Given the description of an element on the screen output the (x, y) to click on. 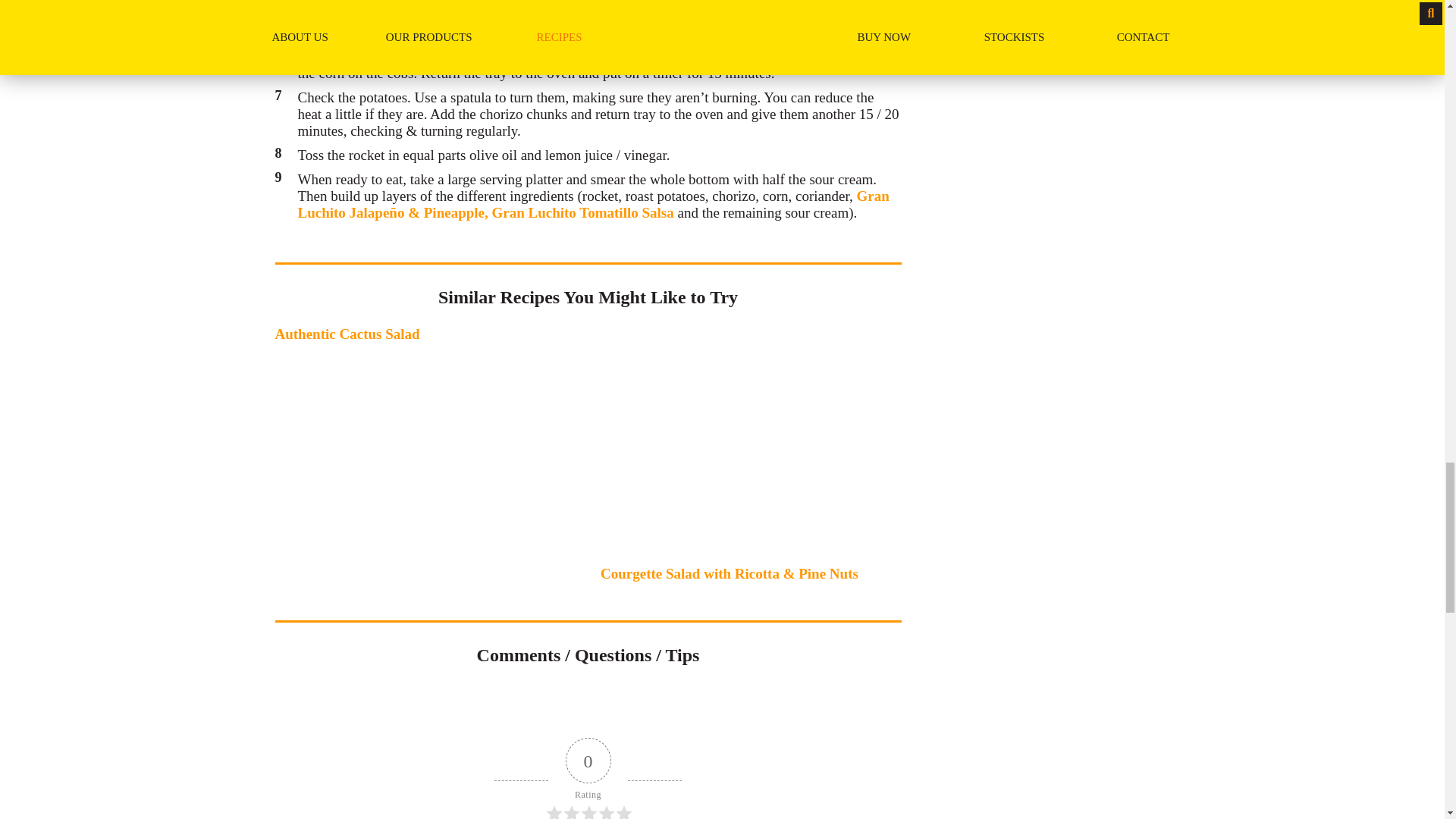
Rating (588, 778)
